Given the description of an element on the screen output the (x, y) to click on. 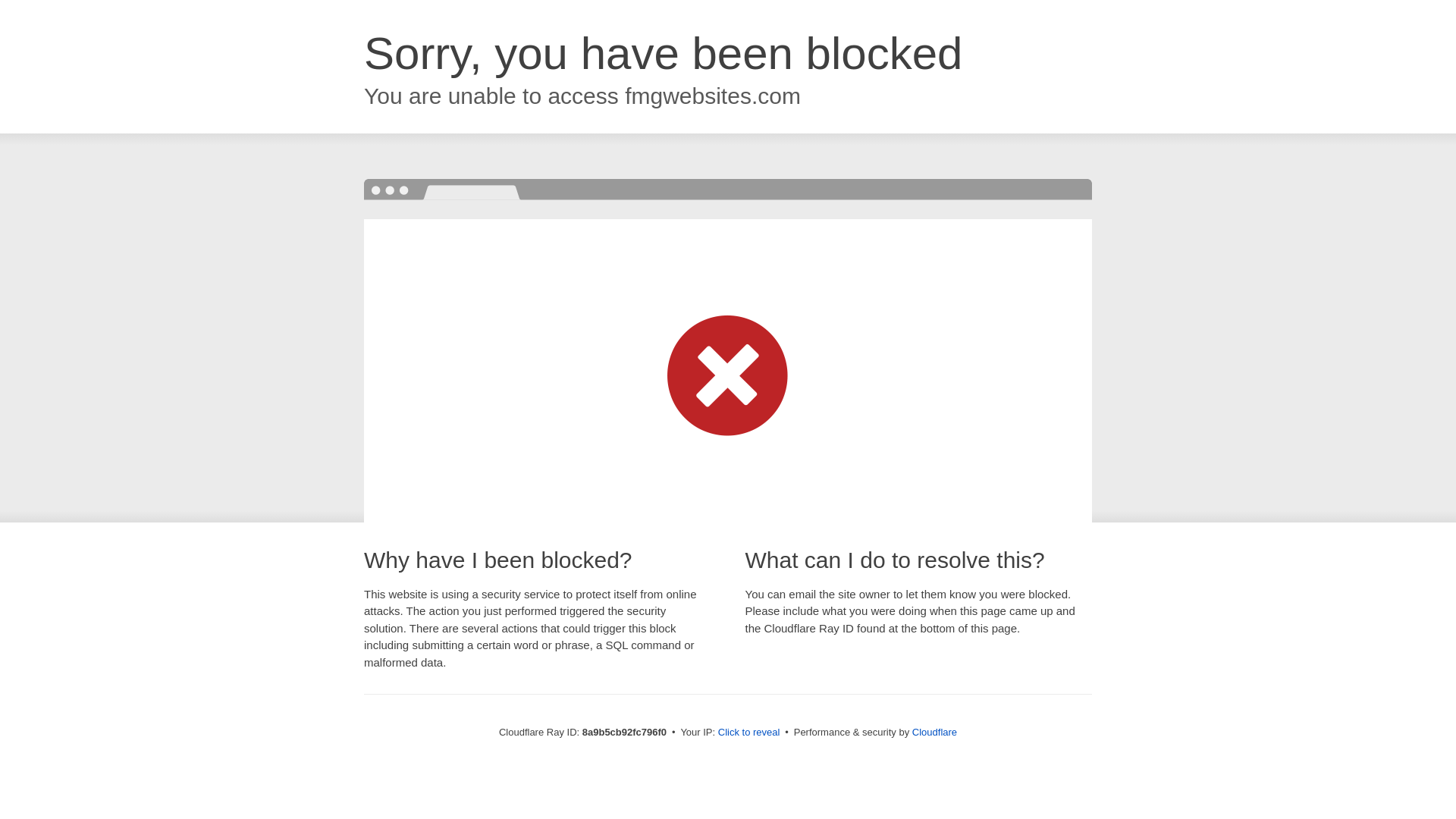
Cloudflare (934, 731)
Click to reveal (748, 732)
